Given the description of an element on the screen output the (x, y) to click on. 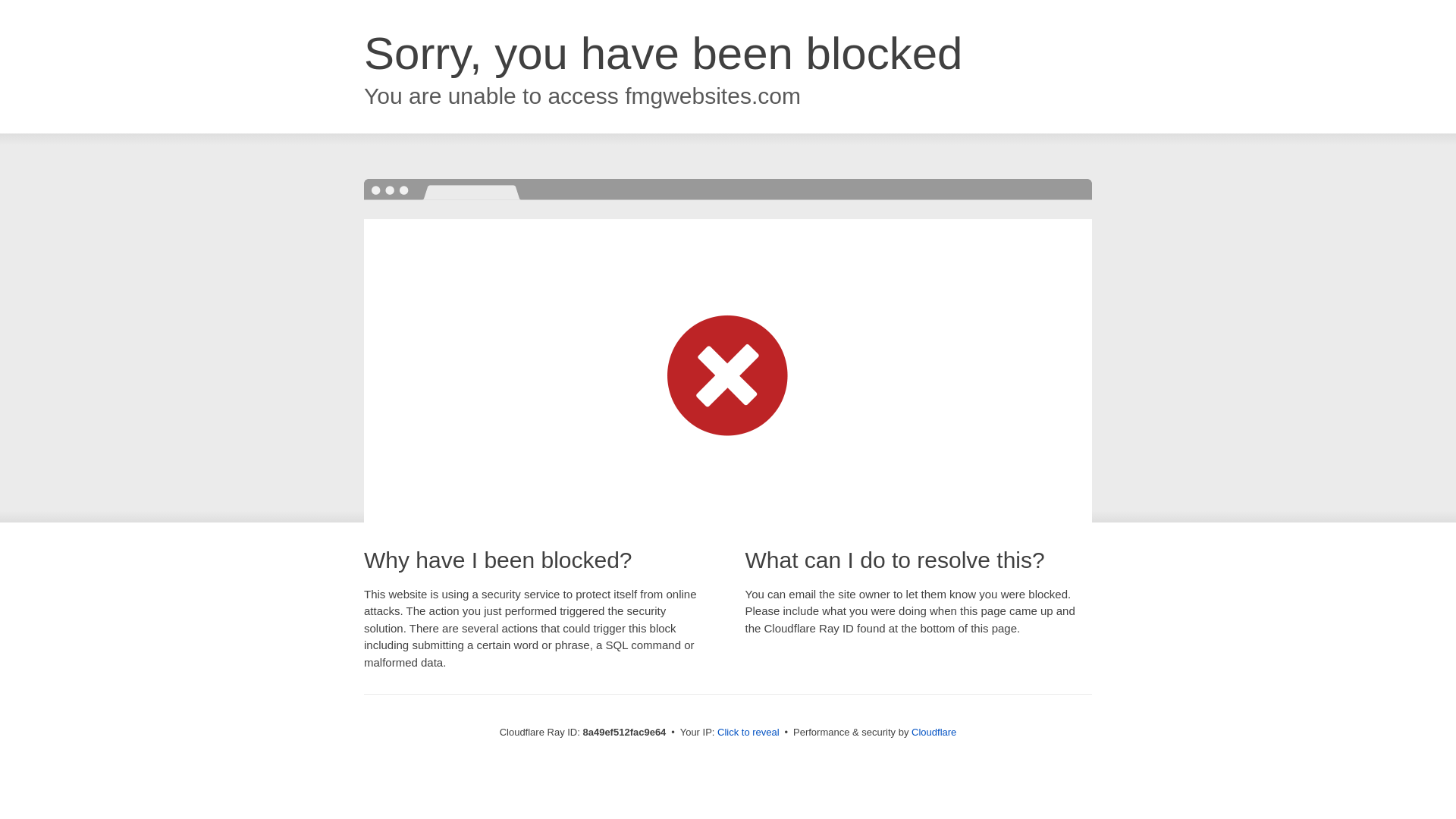
Click to reveal (747, 732)
Cloudflare (933, 731)
